Given the description of an element on the screen output the (x, y) to click on. 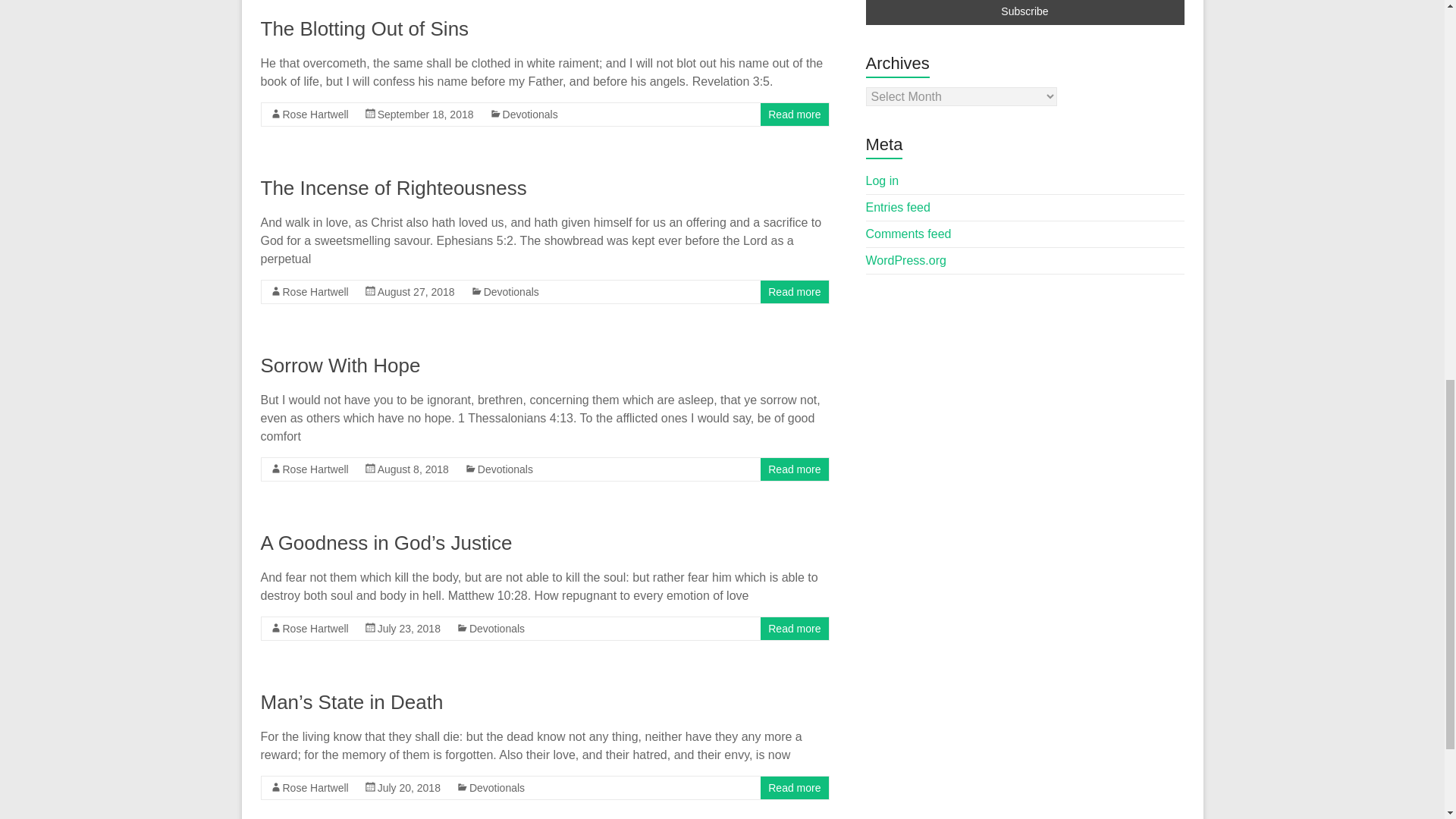
Devotionals (510, 291)
The Incense of Righteousness (393, 187)
Subscribe (1025, 12)
Sorrow With Hope (340, 364)
Read more (794, 469)
July 23, 2018 (409, 628)
Rose Hartwell (314, 291)
Sorrow With Hope (340, 364)
Rose Hartwell (314, 628)
Rose Hartwell (314, 469)
Read more (794, 114)
Rose Hartwell (314, 114)
August 8, 2018 (412, 469)
September 18, 2018 (425, 114)
Devotionals (529, 114)
